Given the description of an element on the screen output the (x, y) to click on. 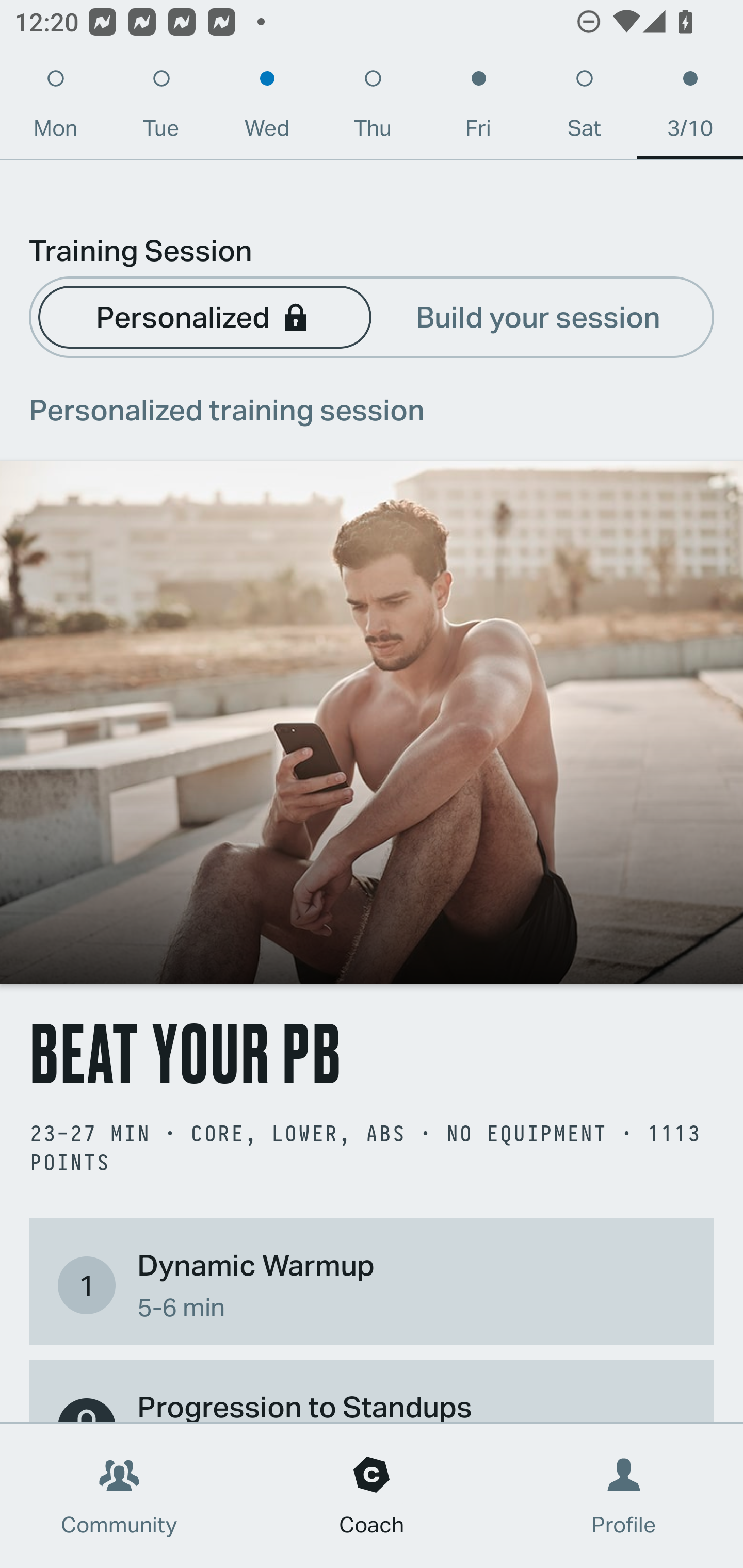
Mon (55, 108)
Tue (160, 108)
Wed (266, 108)
Thu (372, 108)
Fri (478, 108)
Sat (584, 108)
3/10 (690, 108)
Personalized (204, 315)
Build your session (538, 315)
1 Dynamic Warmup 5-6 min (371, 1284)
Community (119, 1495)
Profile (624, 1495)
